Given the description of an element on the screen output the (x, y) to click on. 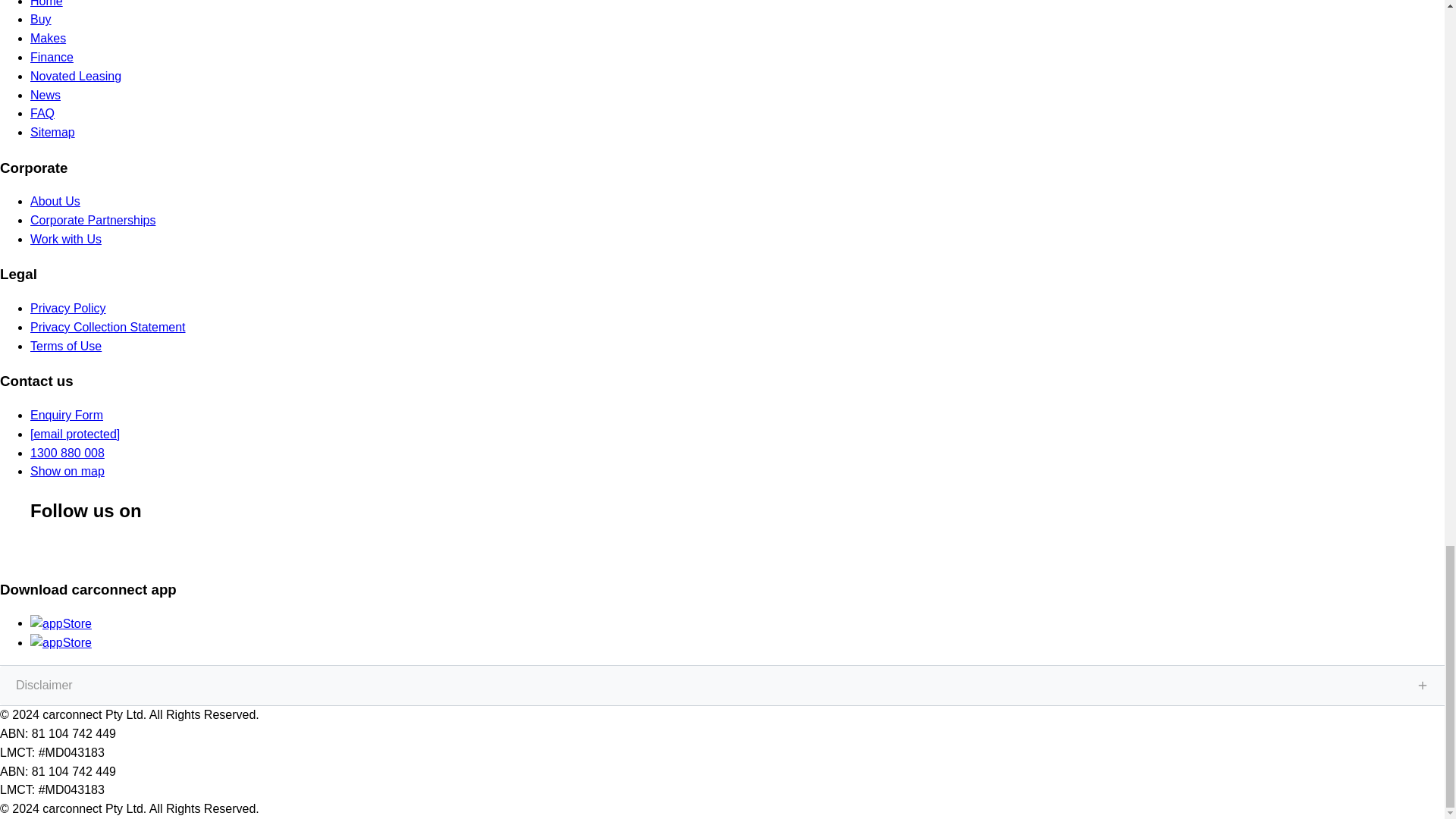
News (45, 93)
Terms of Use (65, 345)
Home (46, 3)
Enquiry Form (66, 414)
1300 880 008 (67, 452)
Corporate Partnerships (92, 219)
Work with Us (65, 238)
Finance (52, 56)
Buy (40, 19)
FAQ (42, 113)
Privacy Policy (68, 308)
Makes (47, 38)
Privacy Collection Statement (108, 327)
Show on map (67, 471)
About Us (55, 201)
